Given the description of an element on the screen output the (x, y) to click on. 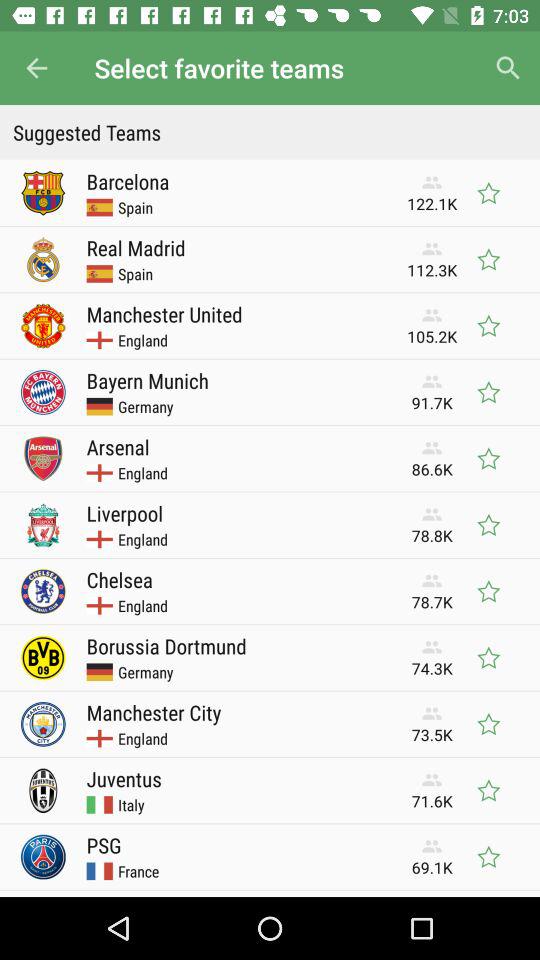
choose item next to the 69.1k (103, 845)
